Given the description of an element on the screen output the (x, y) to click on. 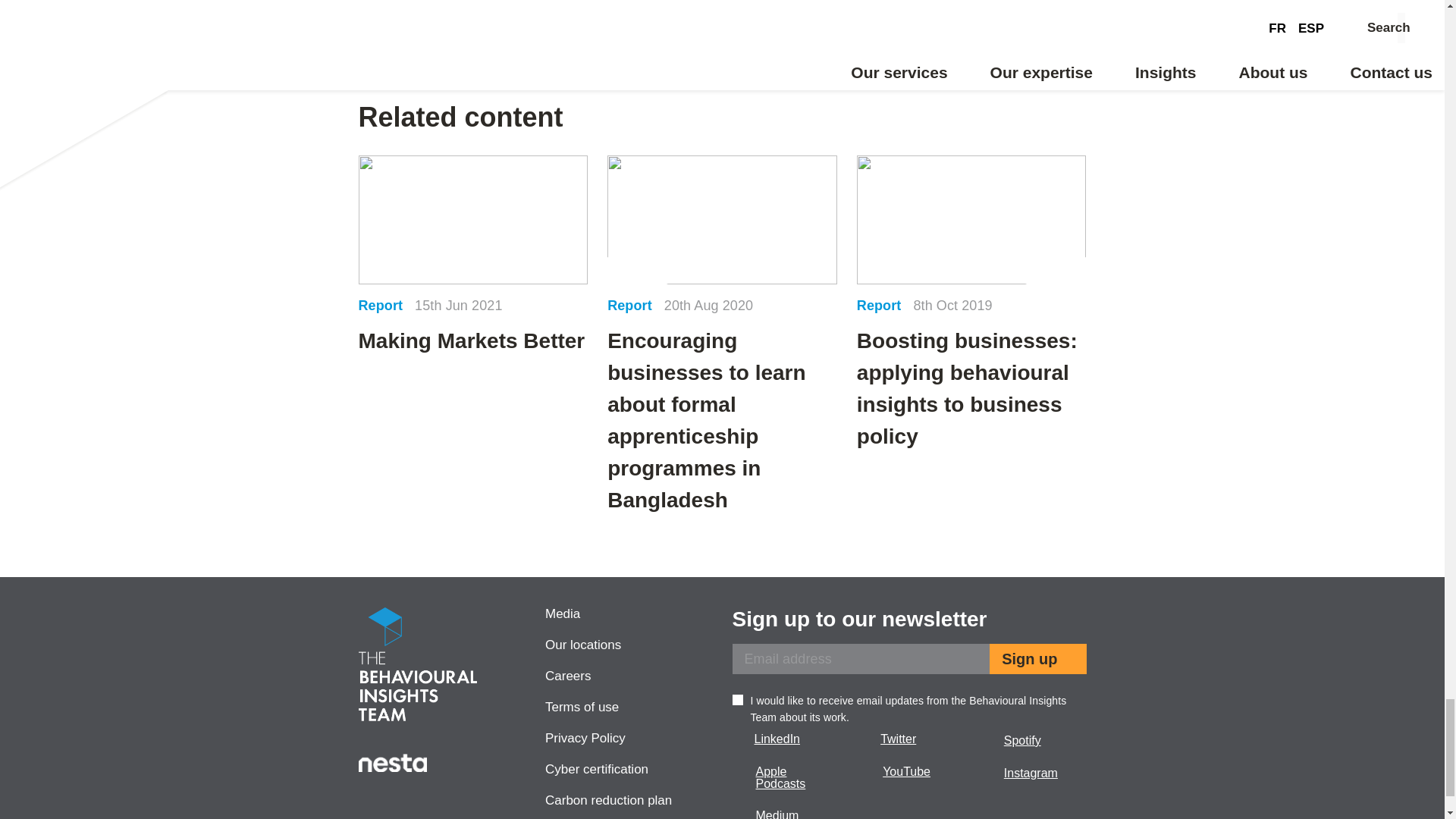
Nida Broughton (909, 12)
Professor David Halpern CBE (534, 12)
Making Markets Better (473, 256)
